Given the description of an element on the screen output the (x, y) to click on. 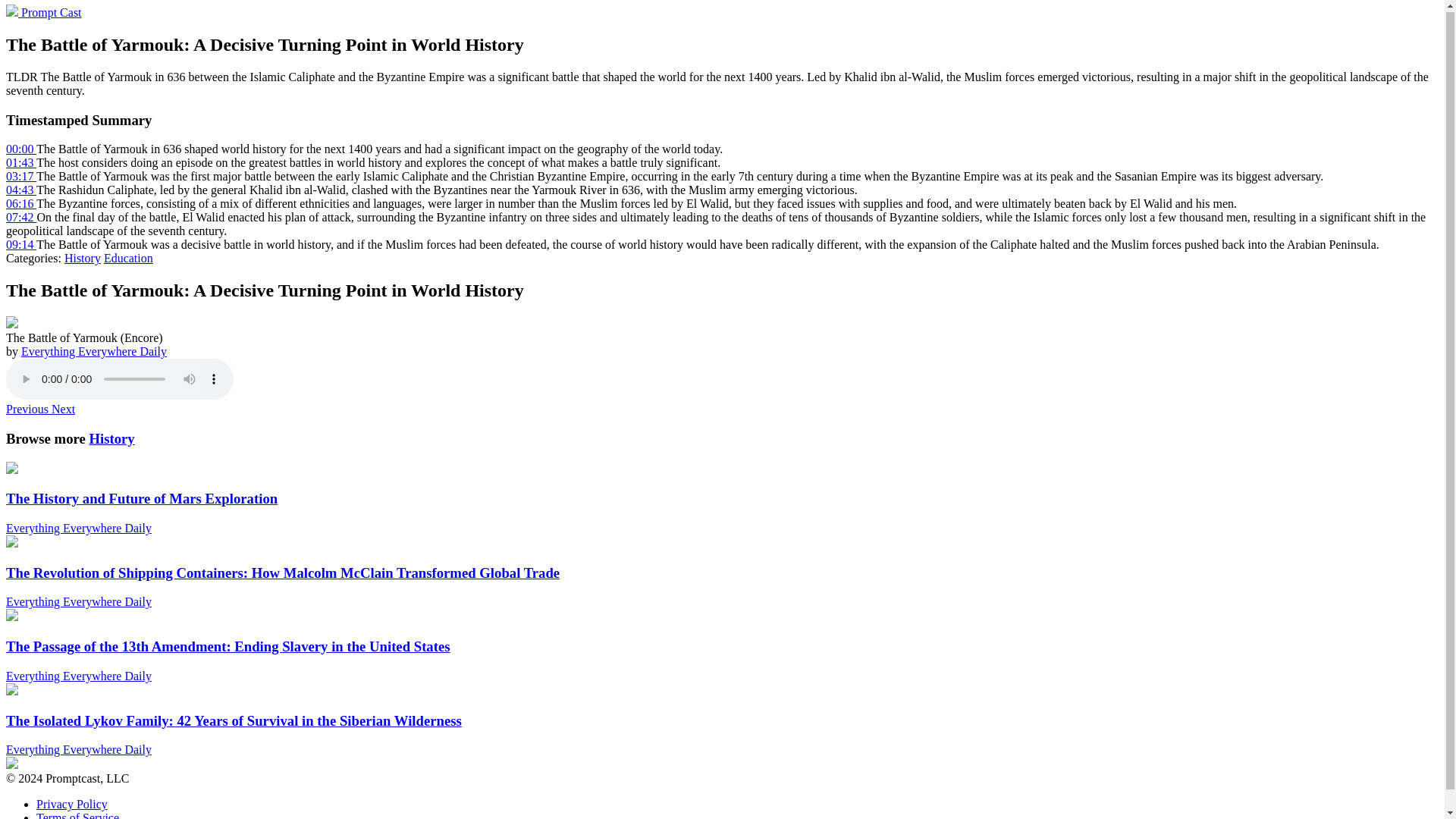
History (82, 257)
06:16 (20, 203)
00:00 (20, 148)
History (110, 438)
Prompt Cast (43, 11)
Everything Everywhere Daily (94, 350)
Next (62, 408)
04:43 (20, 189)
Education (127, 257)
09:14 (20, 244)
